Given the description of an element on the screen output the (x, y) to click on. 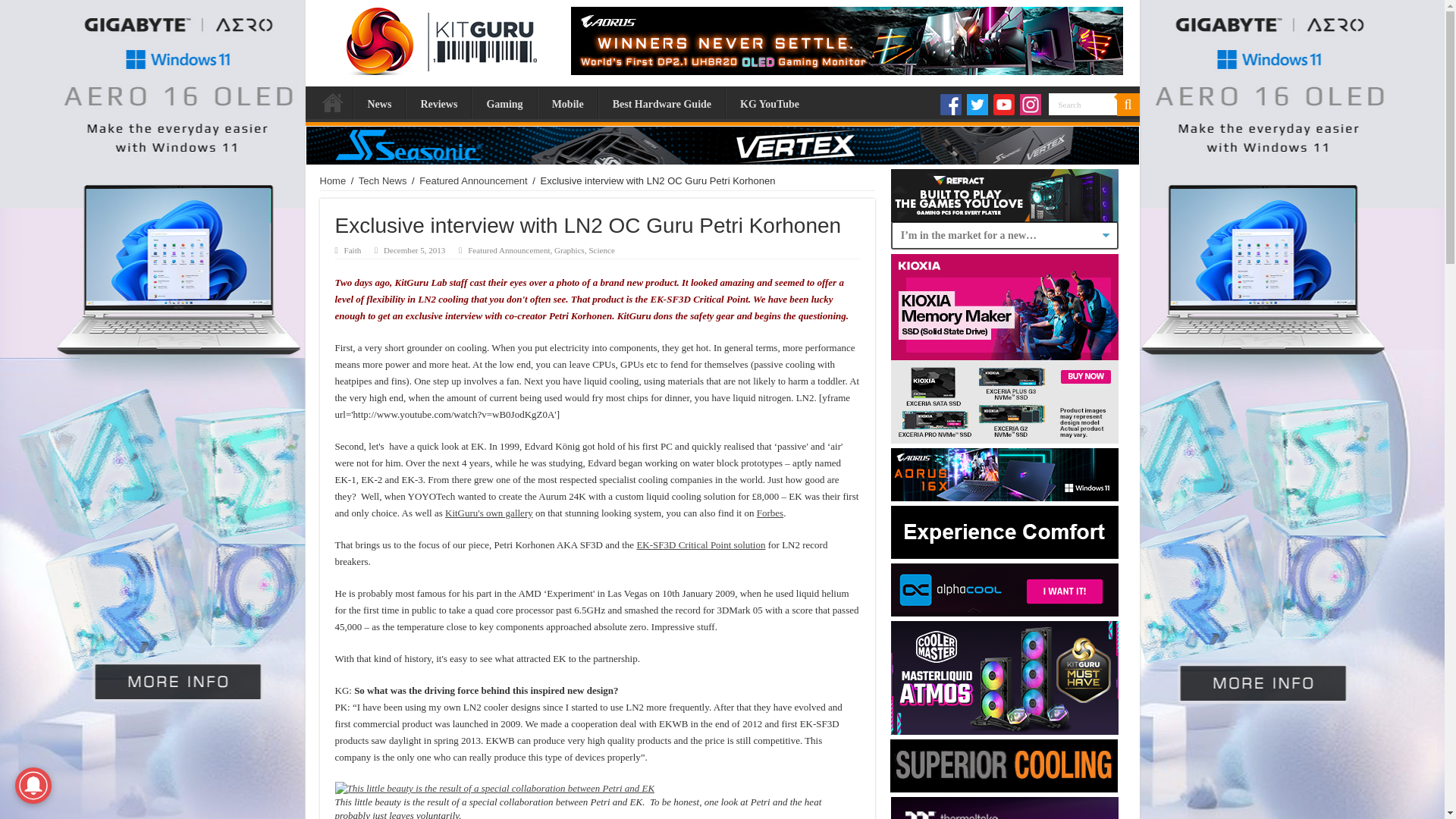
Tech News (382, 180)
Search (1082, 104)
Featured Announcement (473, 180)
KG YouTube (768, 101)
Twitter (977, 104)
Reviews (438, 101)
Graphics (569, 249)
Search (1082, 104)
Best Hardware Guide (661, 101)
Home (333, 180)
